Given the description of an element on the screen output the (x, y) to click on. 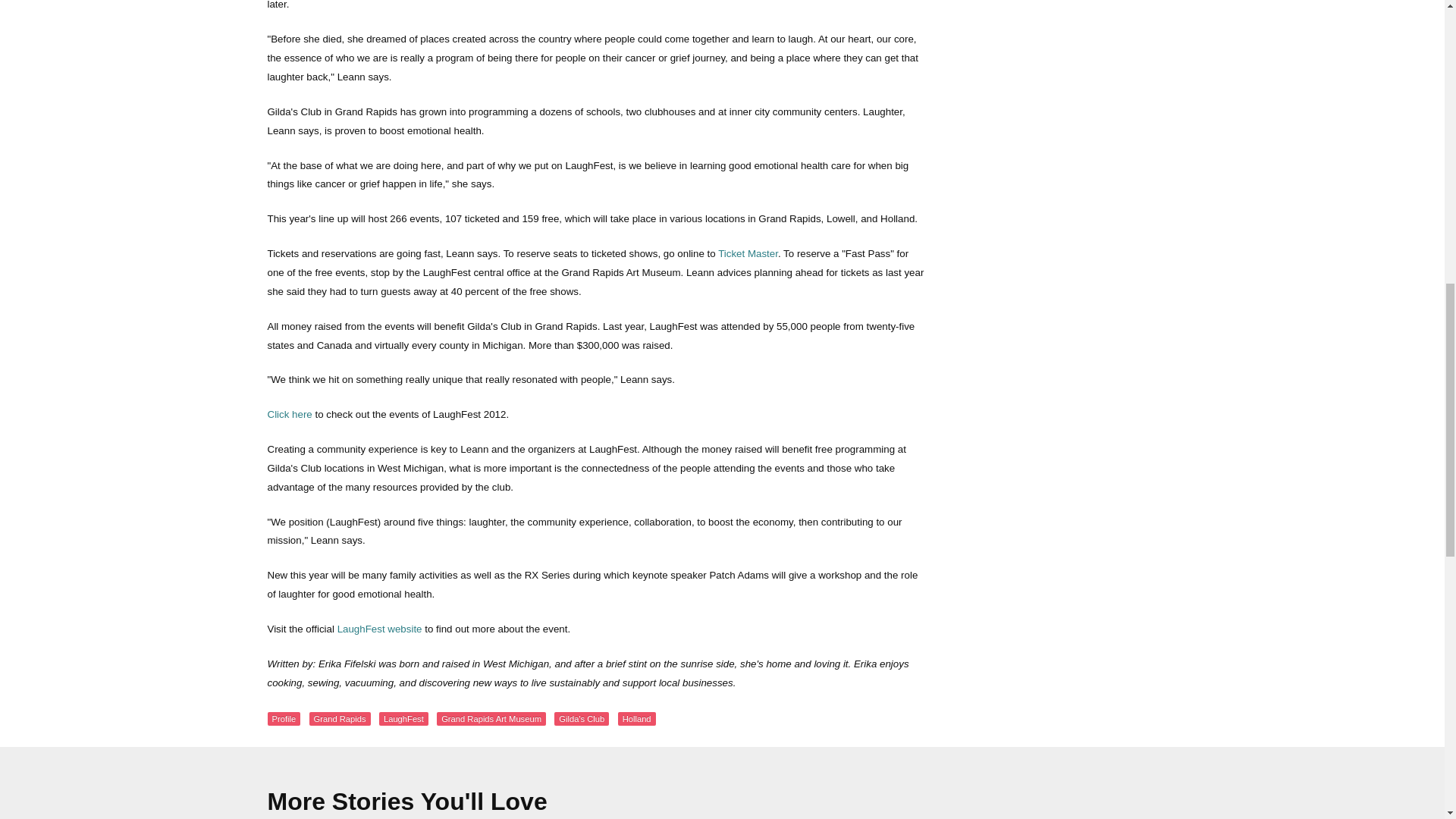
3rd party ad content (1062, 422)
3rd party ad content (1062, 185)
Ticket Master (747, 253)
Profile (282, 718)
LaughFest website (379, 628)
3rd party ad content (1062, 20)
Click here (288, 414)
